Given the description of an element on the screen output the (x, y) to click on. 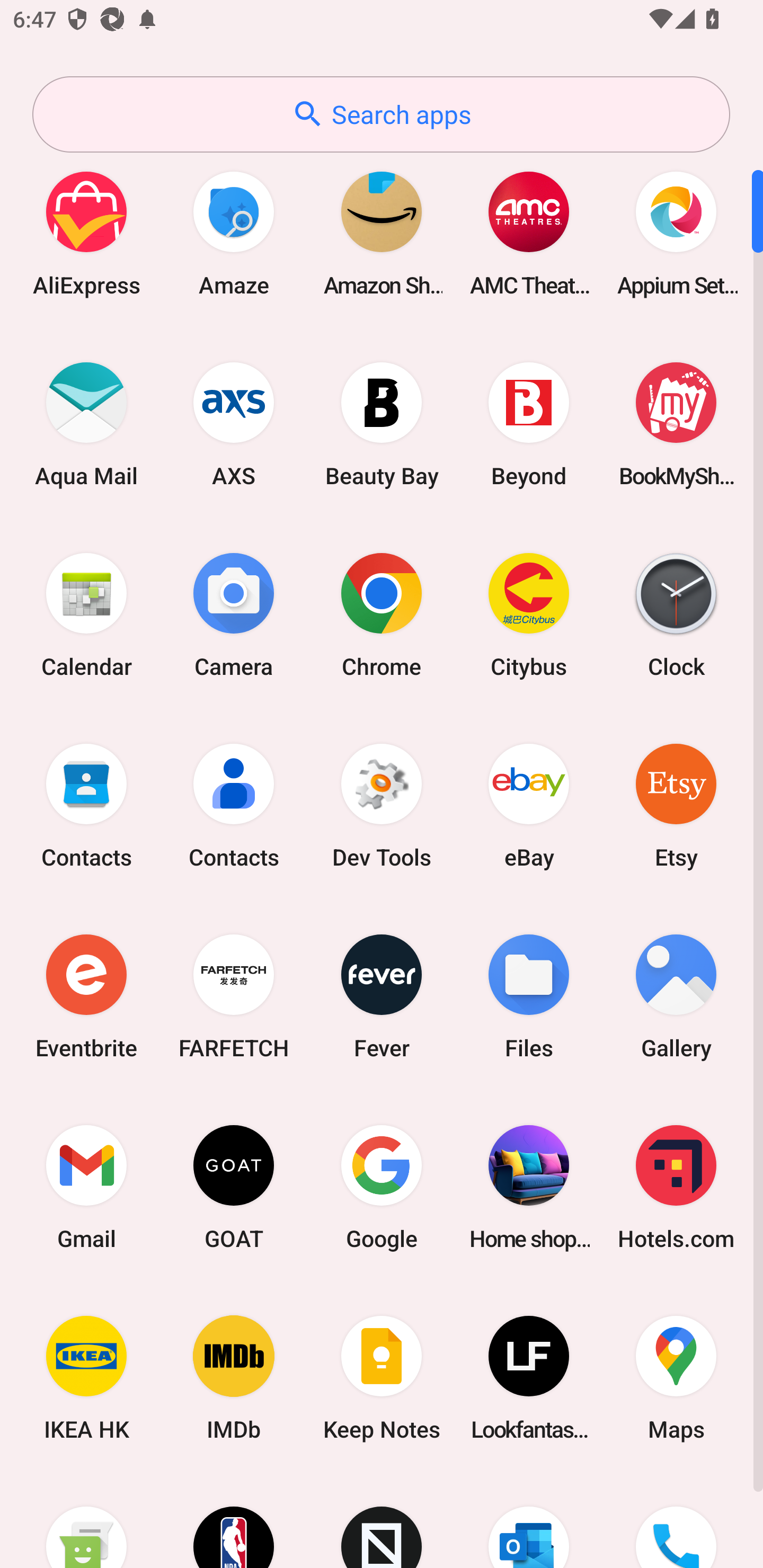
  Search apps (381, 114)
AliExpress (86, 233)
Amaze (233, 233)
Amazon Shopping (381, 233)
AMC Theatres (528, 233)
Appium Settings (676, 233)
Aqua Mail (86, 424)
AXS (233, 424)
Beauty Bay (381, 424)
Beyond (528, 424)
BookMyShow (676, 424)
Calendar (86, 614)
Camera (233, 614)
Chrome (381, 614)
Citybus (528, 614)
Clock (676, 614)
Contacts (86, 805)
Contacts (233, 805)
Dev Tools (381, 805)
eBay (528, 805)
Etsy (676, 805)
Eventbrite (86, 996)
FARFETCH (233, 996)
Fever (381, 996)
Files (528, 996)
Gallery (676, 996)
Gmail (86, 1186)
GOAT (233, 1186)
Google (381, 1186)
Home shopping (528, 1186)
Hotels.com (676, 1186)
IKEA HK (86, 1377)
IMDb (233, 1377)
Keep Notes (381, 1377)
Lookfantastic (528, 1377)
Maps (676, 1377)
